Given the description of an element on the screen output the (x, y) to click on. 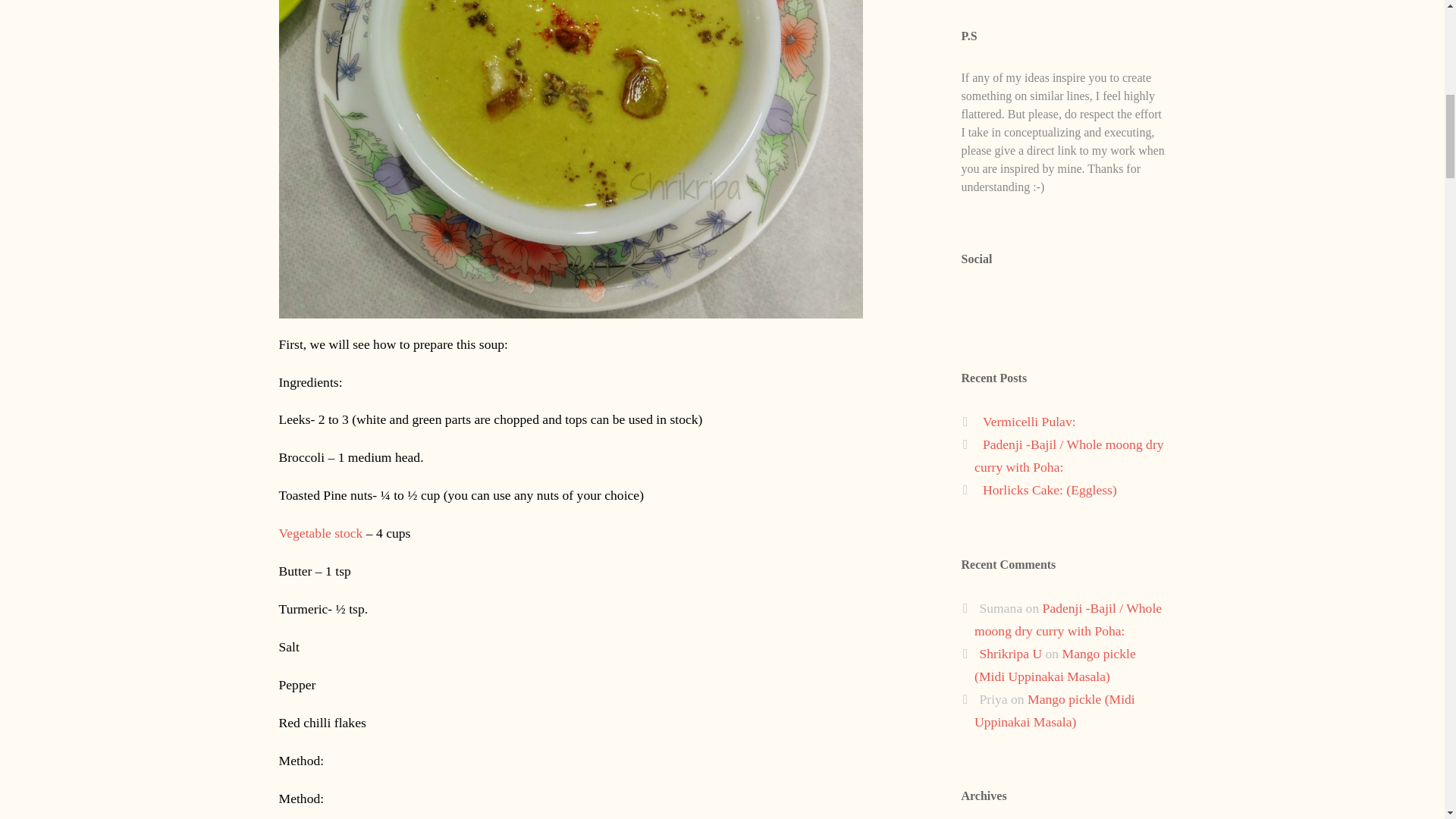
Shrikripa U (1010, 653)
Vermicelli Pulav: (1028, 421)
Vegetable stock (320, 532)
